Given the description of an element on the screen output the (x, y) to click on. 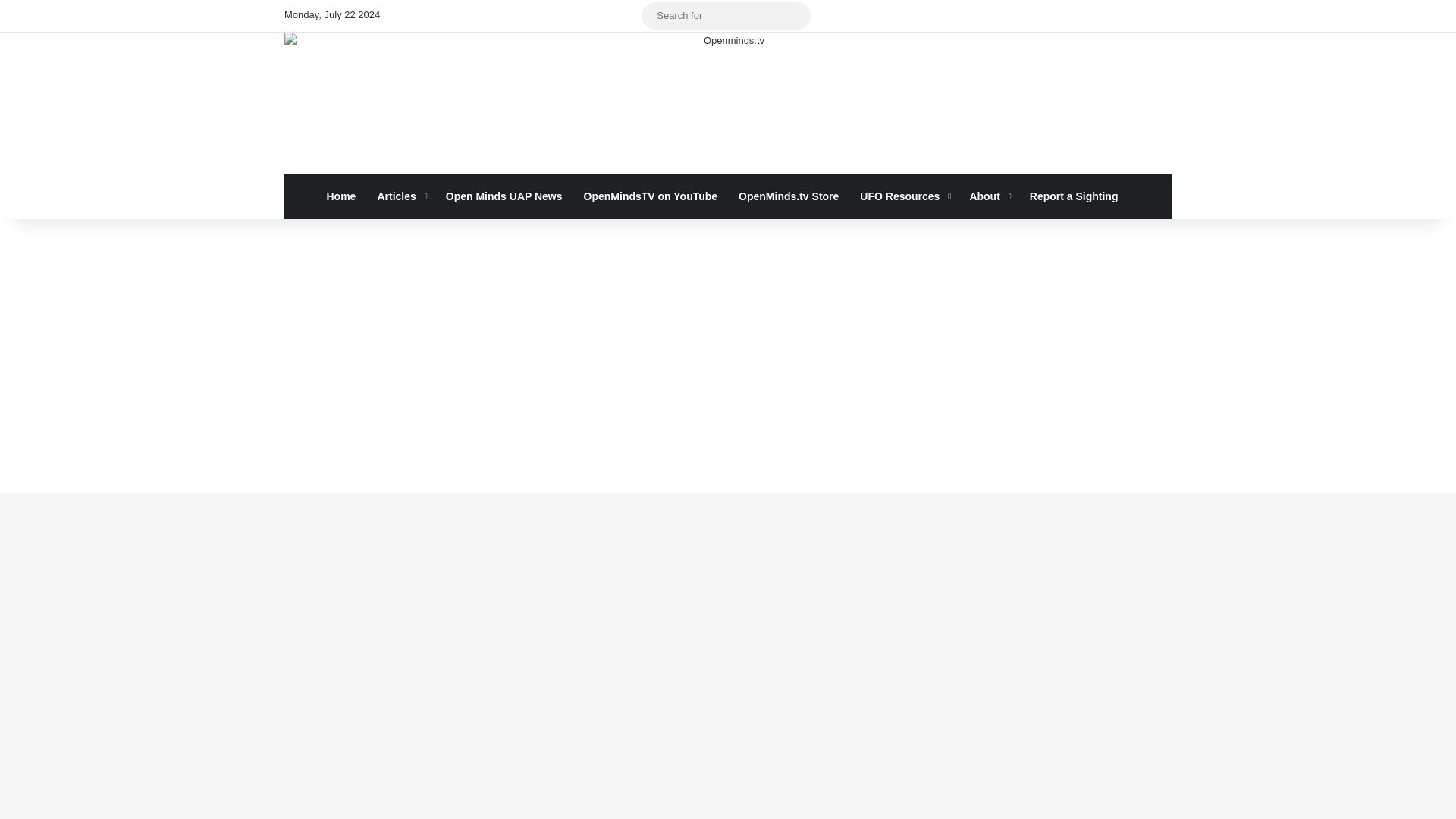
Search for (726, 15)
YouTube (470, 15)
About (987, 196)
OpenMinds.tv Store (788, 196)
Random Article (606, 15)
Patreon (561, 15)
OpenMindsTV on YouTube (651, 196)
Random Article (606, 15)
Articles (399, 196)
UFO Resources (903, 196)
Open Minds UAP News (504, 196)
Home (340, 196)
Sidebar (630, 15)
LinkedIn (448, 15)
Search for (795, 15)
